Given the description of an element on the screen output the (x, y) to click on. 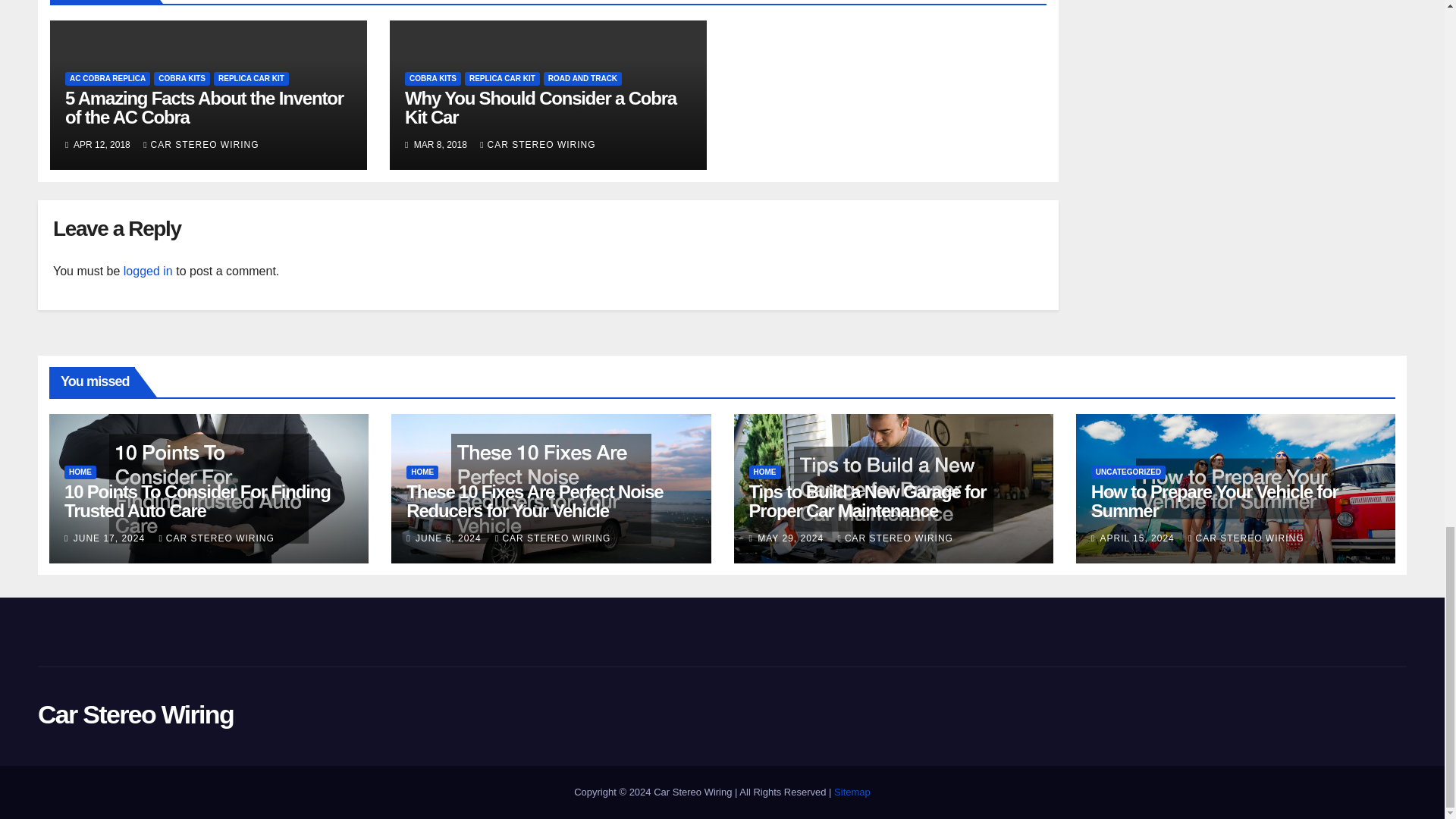
REPLICA CAR KIT (502, 78)
AC COBRA REPLICA (107, 78)
CAR STEREO WIRING (200, 144)
COBRA KITS (181, 78)
5 Amazing Facts About the Inventor of the AC Cobra (204, 107)
ROAD AND TRACK (582, 78)
Permalink to: Why You Should Consider a Cobra Kit Car (540, 107)
REPLICA CAR KIT (251, 78)
Why You Should Consider a Cobra Kit Car (540, 107)
COBRA KITS (432, 78)
